Given the description of an element on the screen output the (x, y) to click on. 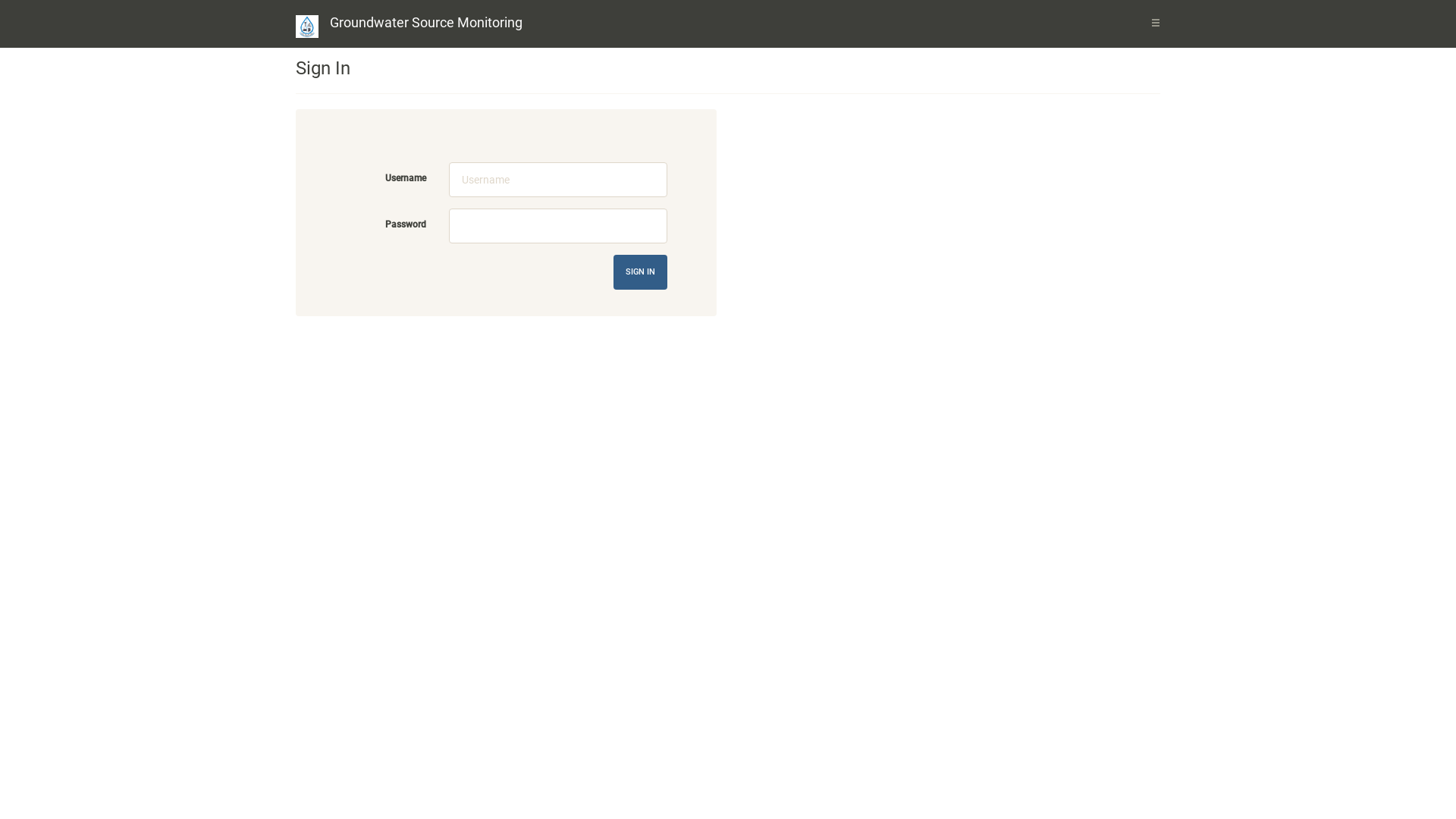
Sign In Element type: text (640, 271)
Groundwater Source Monitoring Element type: text (425, 22)
